Given the description of an element on the screen output the (x, y) to click on. 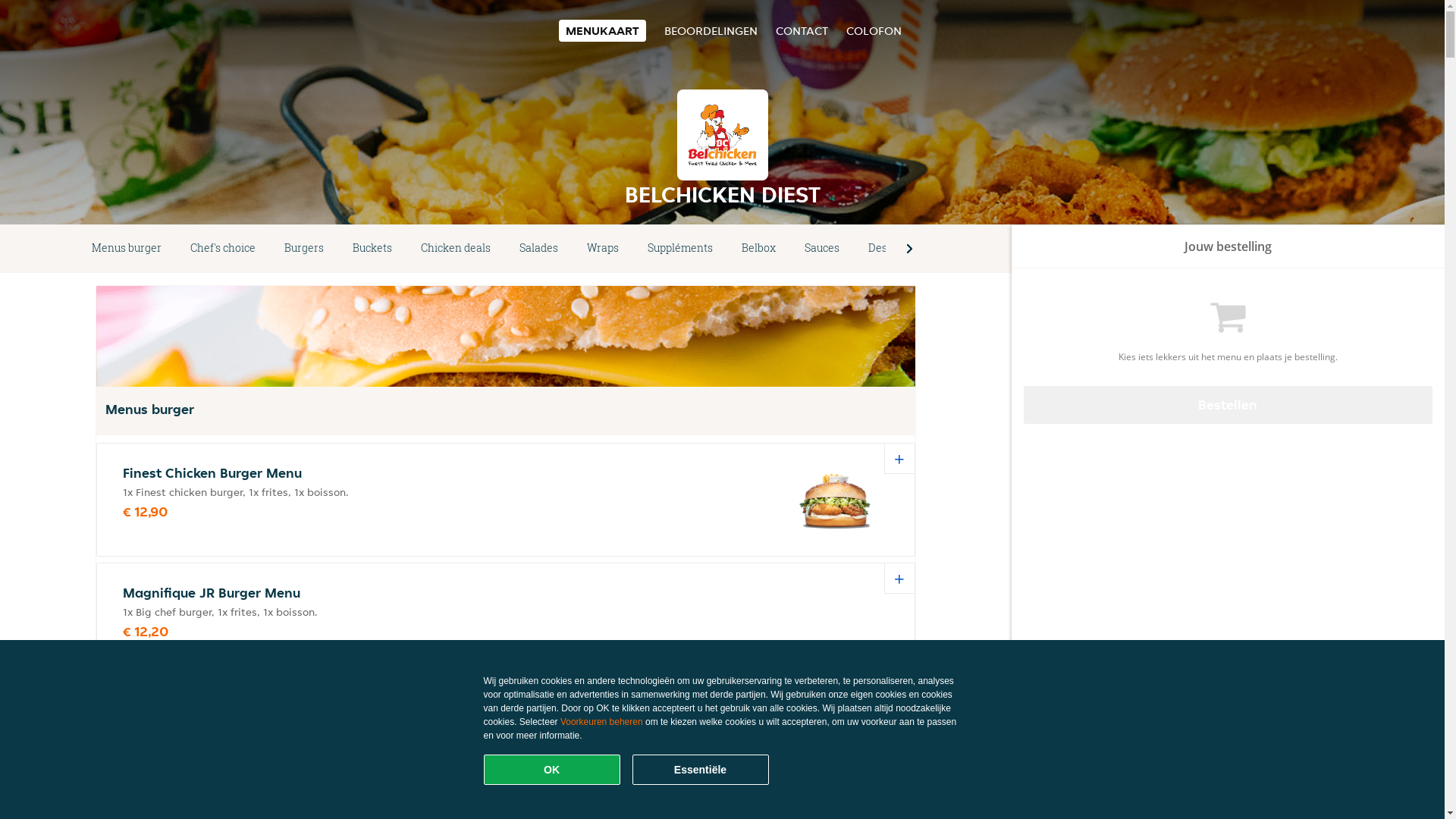
Salades Element type: text (538, 248)
Wraps Element type: text (602, 248)
Desserts Element type: text (889, 248)
Voorkeuren beheren Element type: text (601, 721)
COLOFON Element type: text (873, 30)
Belbox Element type: text (758, 248)
Menus burger Element type: text (126, 248)
Chef's choice Element type: text (222, 248)
Burgers Element type: text (303, 248)
OK Element type: text (551, 769)
Sauces Element type: text (821, 248)
Chicken deals Element type: text (455, 248)
BEOORDELINGEN Element type: text (710, 30)
CONTACT Element type: text (801, 30)
Buckets Element type: text (372, 248)
Bestellen Element type: text (1228, 404)
MENUKAART Element type: text (601, 30)
